Given the description of an element on the screen output the (x, y) to click on. 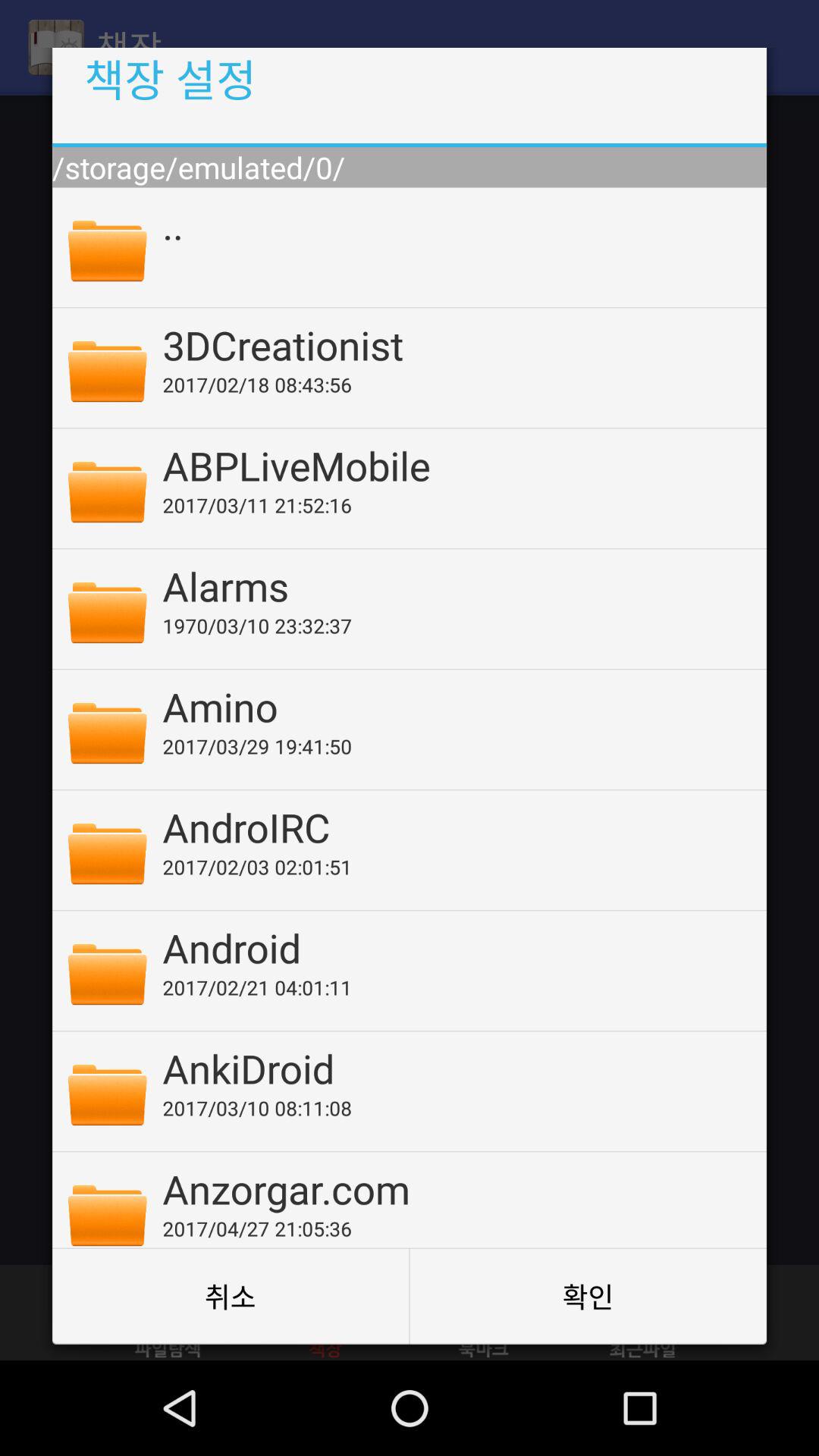
turn on the app below the 2017 03 29 icon (454, 826)
